Given the description of an element on the screen output the (x, y) to click on. 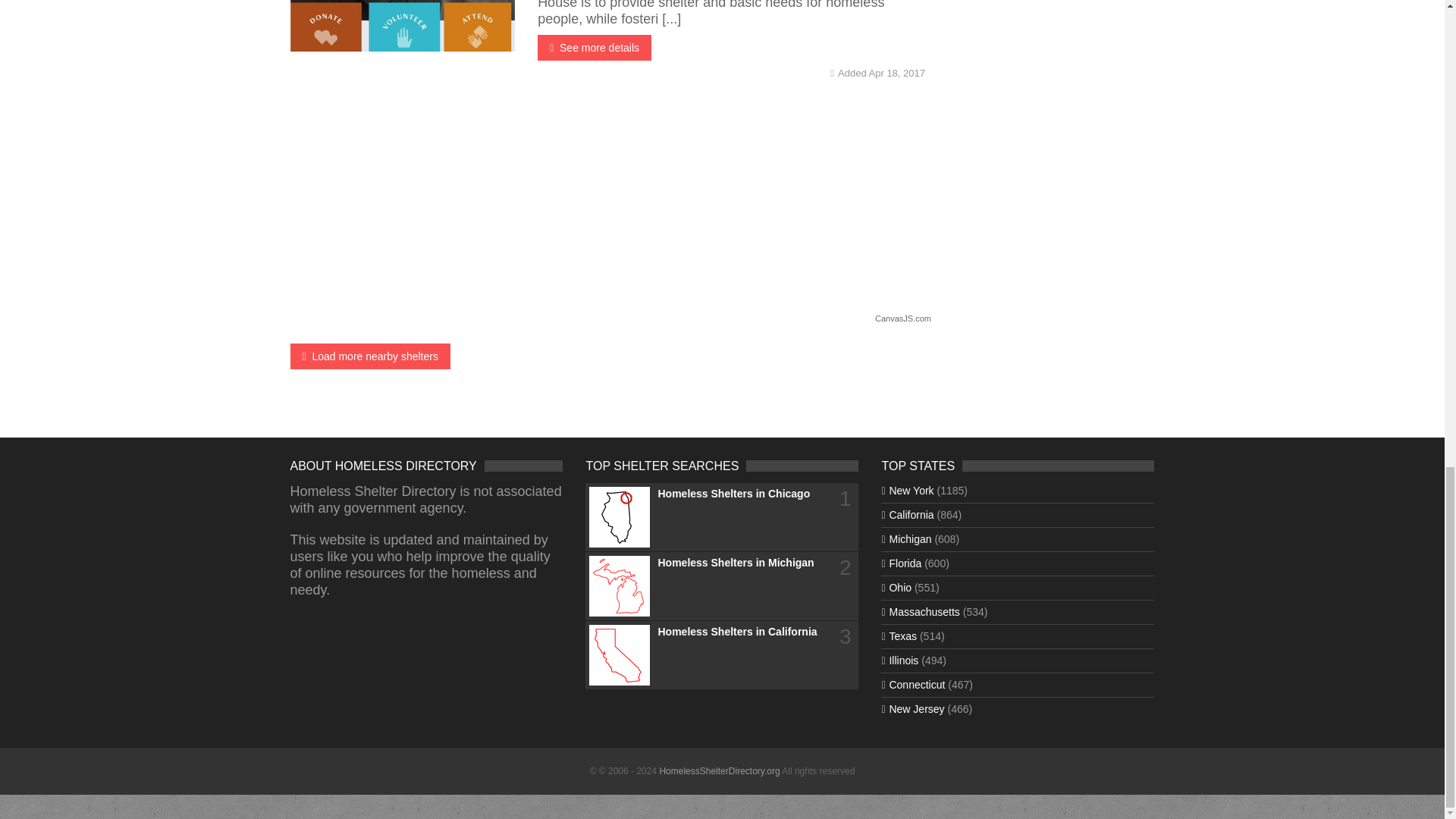
  See more details (593, 47)
CanvasJS.com (903, 318)
JavaScript Charts (903, 318)
  Load more nearby shelters (369, 356)
